Given the description of an element on the screen output the (x, y) to click on. 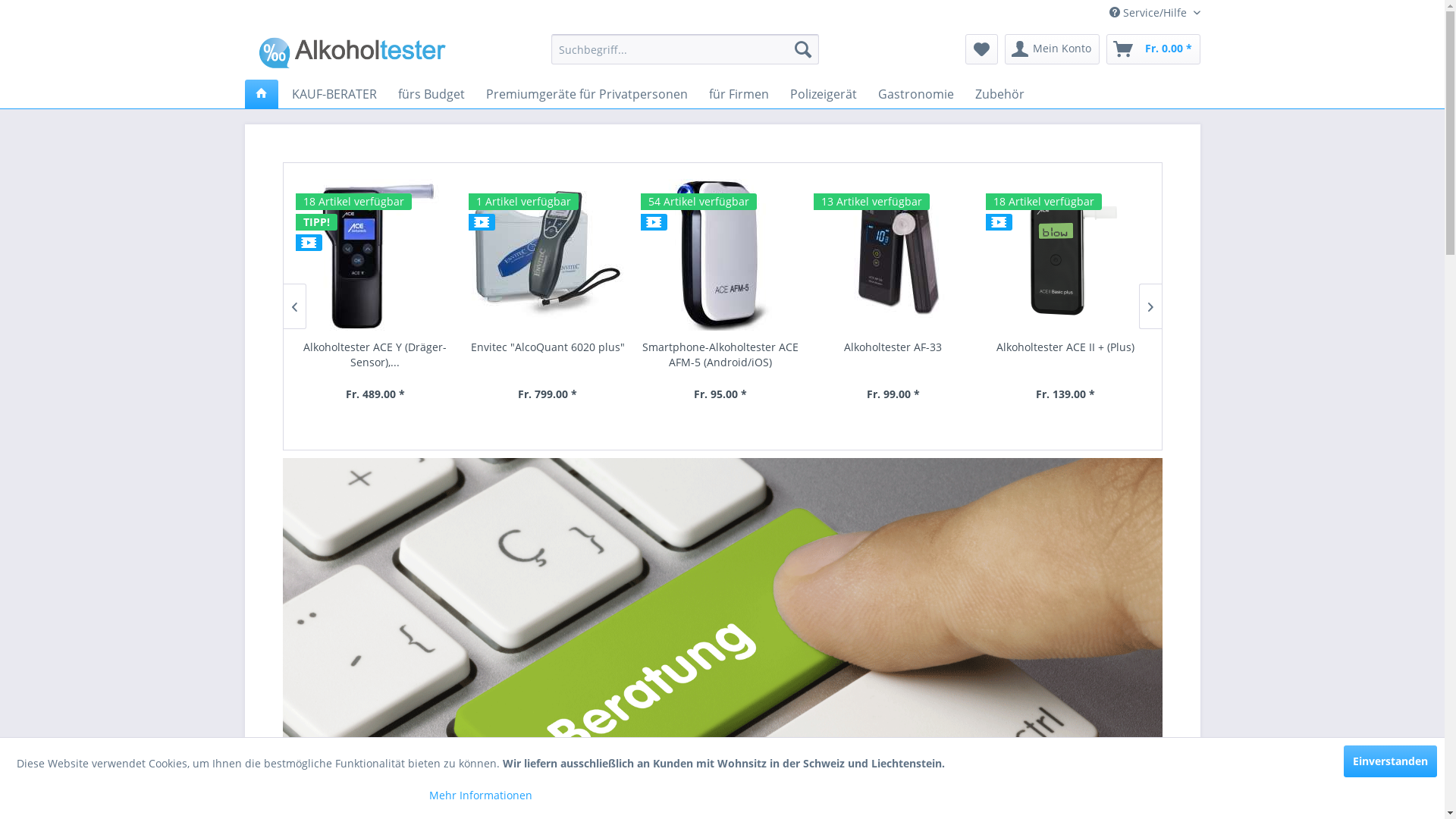
Inhalt Element type: hover (618, 379)
Inhalt Element type: hover (913, 379)
Ocigo Alkoholtester, mit Infrarottechnik Element type: hover (376, 255)
Fr. 0.00 * Element type: text (1152, 49)
Inhalt Element type: hover (761, 379)
Merkzettel Element type: hover (980, 49)
Alkoholtester ACE II + (Plus) Element type: text (376, 354)
KAUF-BERATER Element type: text (333, 93)
Ocigo Alkoholtester, mit Infrarottechnik Element type: text (721, 354)
Alkoholtester-Shop - zur Startseite wechseln Element type: hover (353, 53)
Einverstanden Element type: text (1390, 761)
Alkoholtester AF-33 Element type: hover (1082, 255)
Alkoholtester ACE X Element type: text (548, 354)
Inhalt Element type: hover (376, 379)
Inhalt Element type: hover (516, 379)
Gastronomie Element type: text (915, 93)
Mehr Informationen Element type: text (480, 794)
Mein Konto Element type: text (1051, 49)
Envitec "AlcoQuant 6020 plus" Element type: hover (777, 255)
Home Element type: hover (260, 93)
Smartphone-Alkoholtester ACE AFM-5 (Android/iOS) Element type: hover (925, 255)
Inhalt Element type: hover (1076, 379)
